Given the description of an element on the screen output the (x, y) to click on. 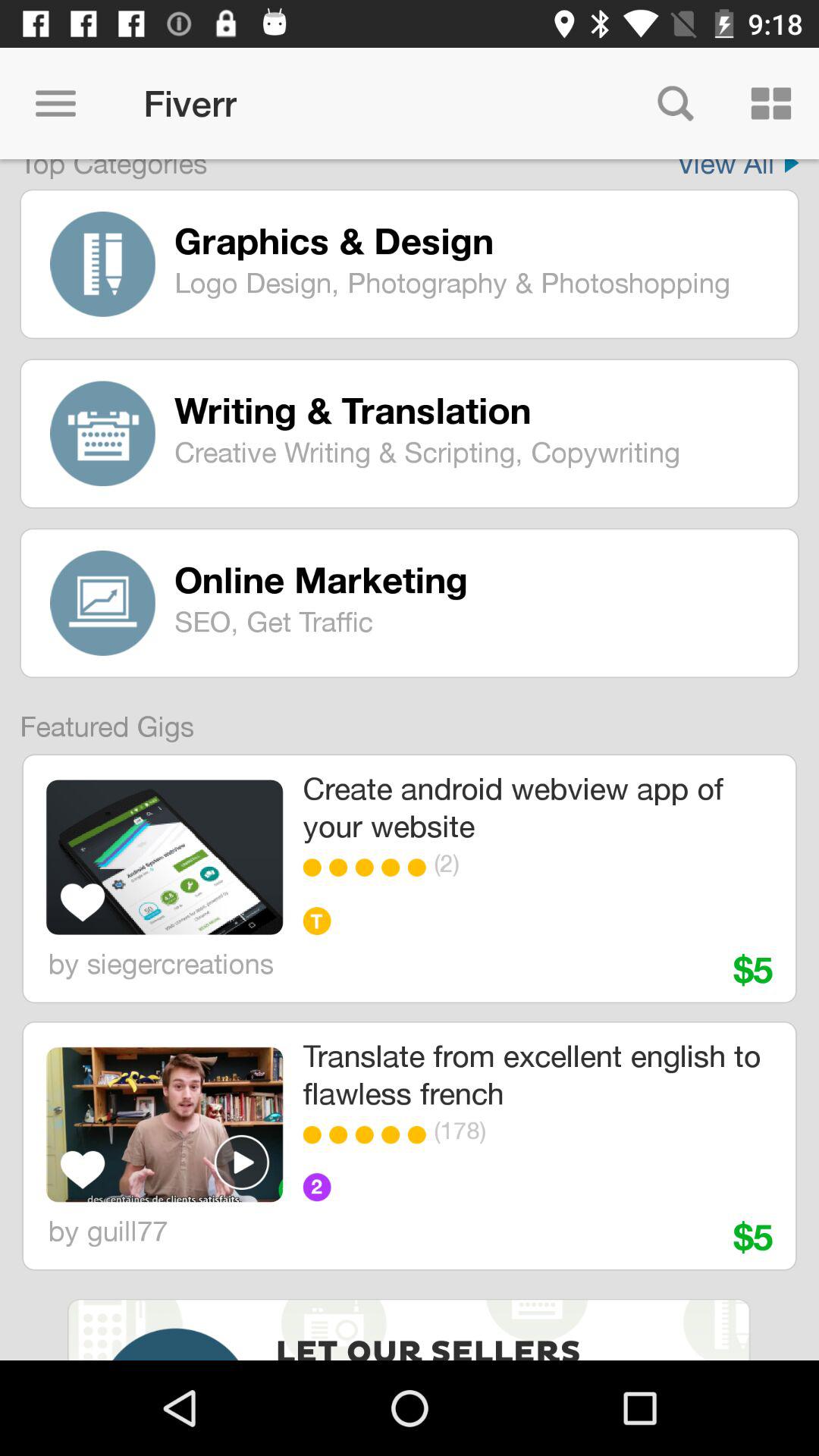
turn off the item below the writing & translation item (475, 451)
